Given the description of an element on the screen output the (x, y) to click on. 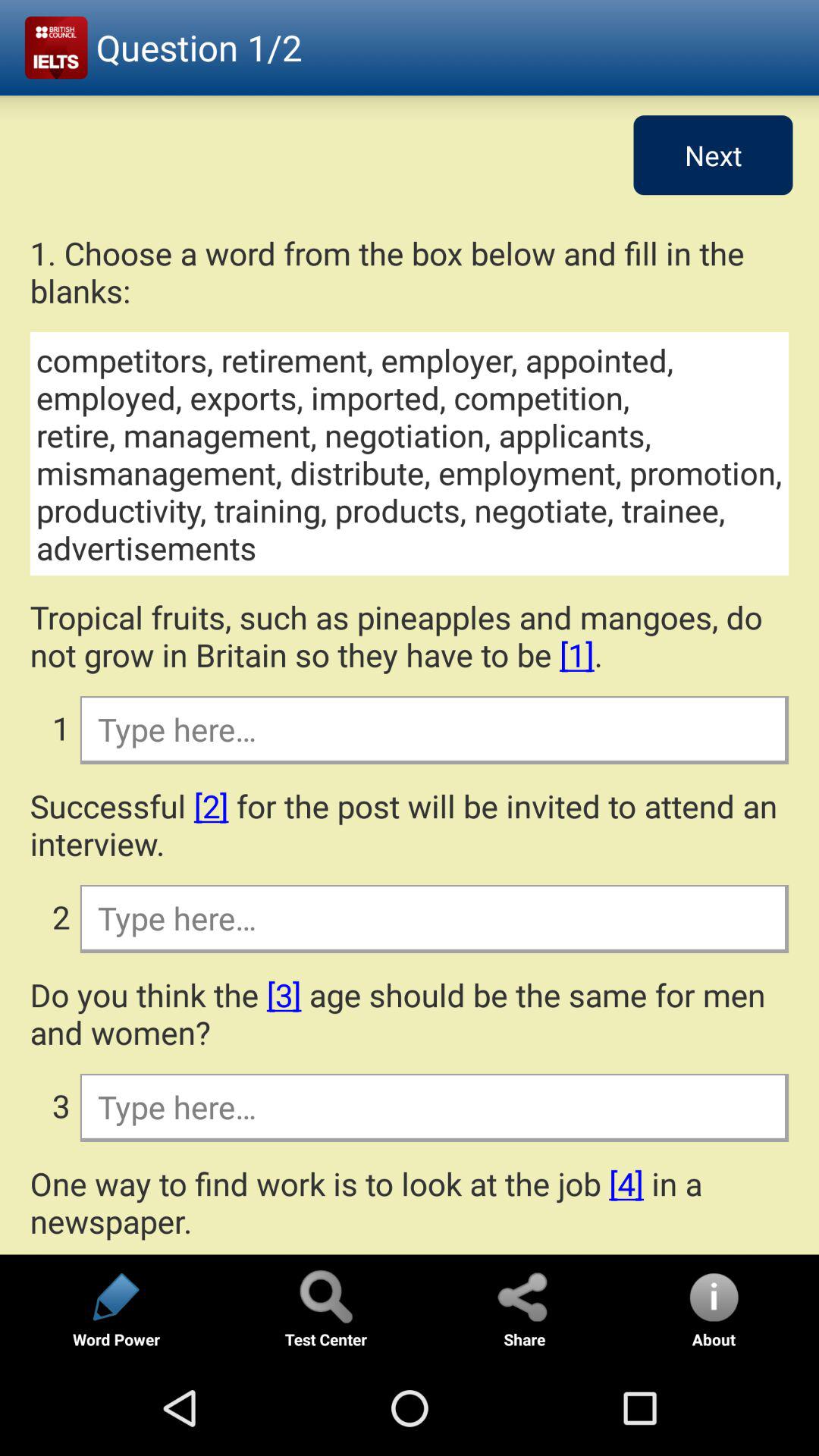
tap one way to app (409, 1201)
